Given the description of an element on the screen output the (x, y) to click on. 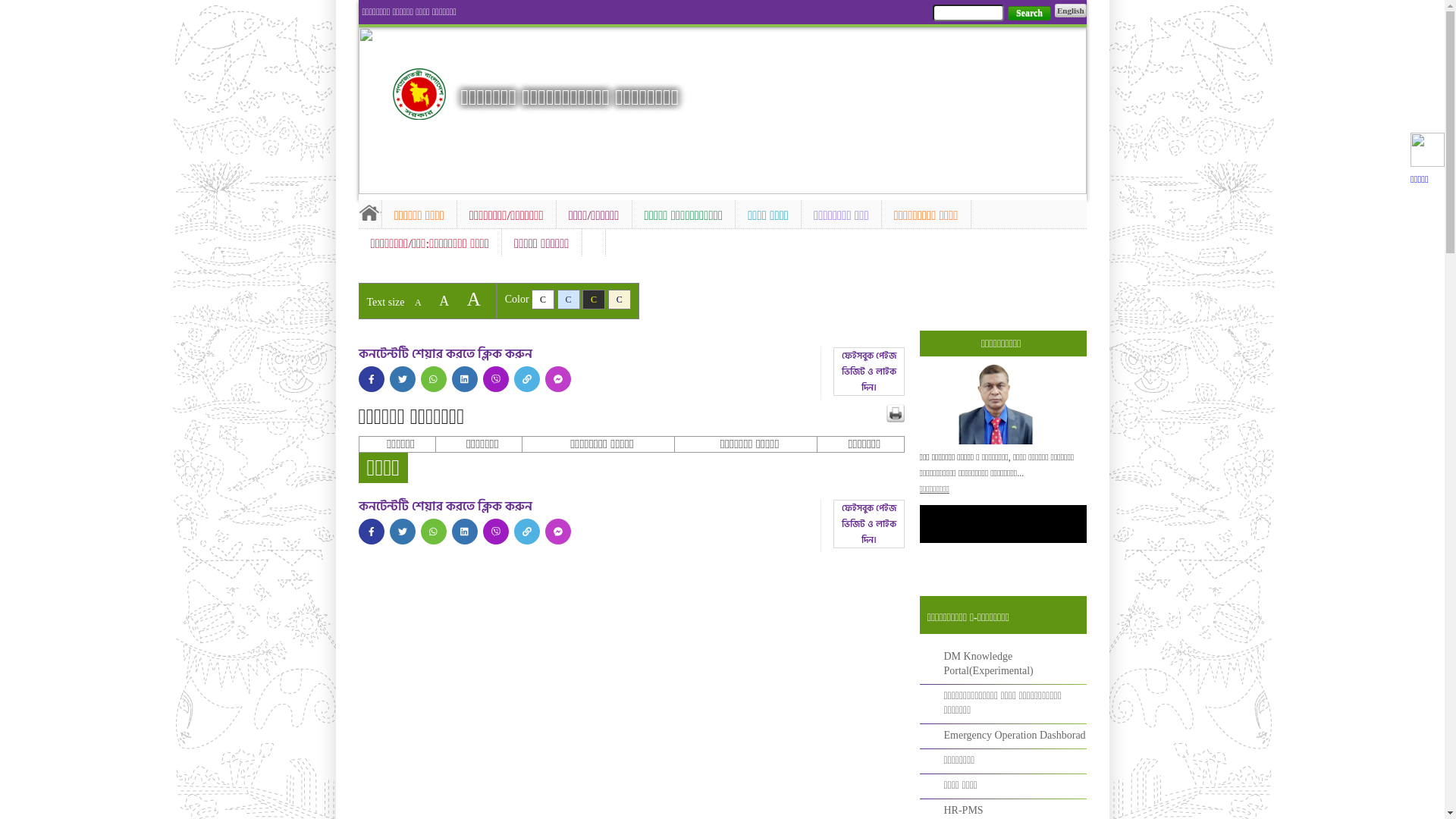
C Element type: text (593, 299)
DM Knowledge Portal(Experimental) Element type: text (987, 663)
C Element type: text (568, 299)
Emergency Operation Dashborad Element type: text (1014, 734)
C Element type: text (619, 299)
Home Element type: hover (368, 211)
English Element type: text (1069, 10)
HR-PMS Element type: text (962, 809)
A Element type: text (418, 302)
A Element type: text (473, 299)
A Element type: text (443, 300)
Home Element type: hover (418, 93)
C Element type: text (542, 299)
Search Element type: text (1029, 13)
